Given the description of an element on the screen output the (x, y) to click on. 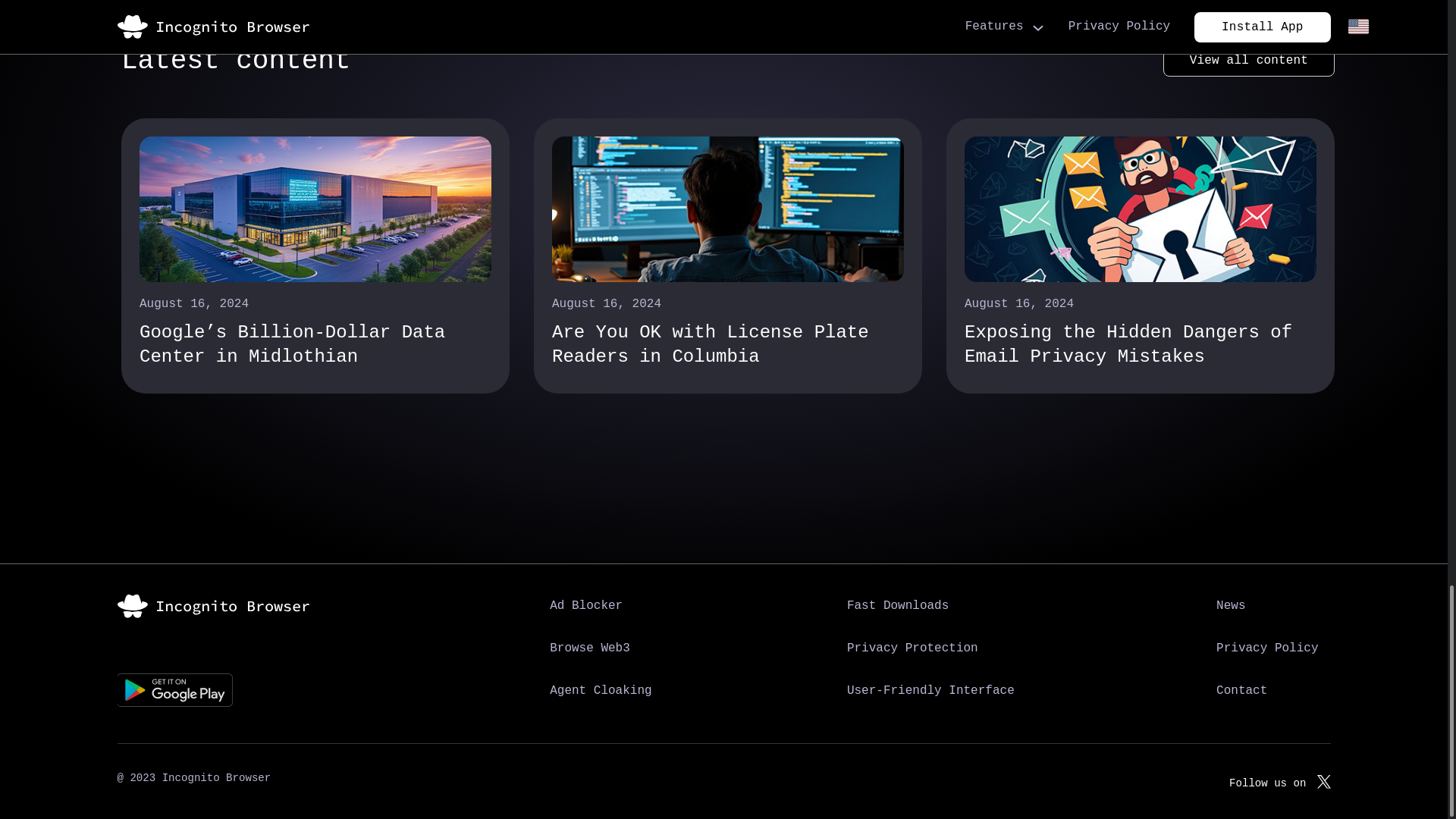
Follow us on (1279, 778)
News (1230, 606)
Agent Cloaking (600, 691)
Privacy Policy (1267, 648)
Fast Downloads (897, 606)
Are You OK with License Plate Readers in Columbia (727, 344)
Privacy Protection (912, 648)
Exposing the Hidden Dangers of Email Privacy Mistakes (1139, 344)
User-Friendly Interface (930, 691)
Contact (1241, 691)
